Given the description of an element on the screen output the (x, y) to click on. 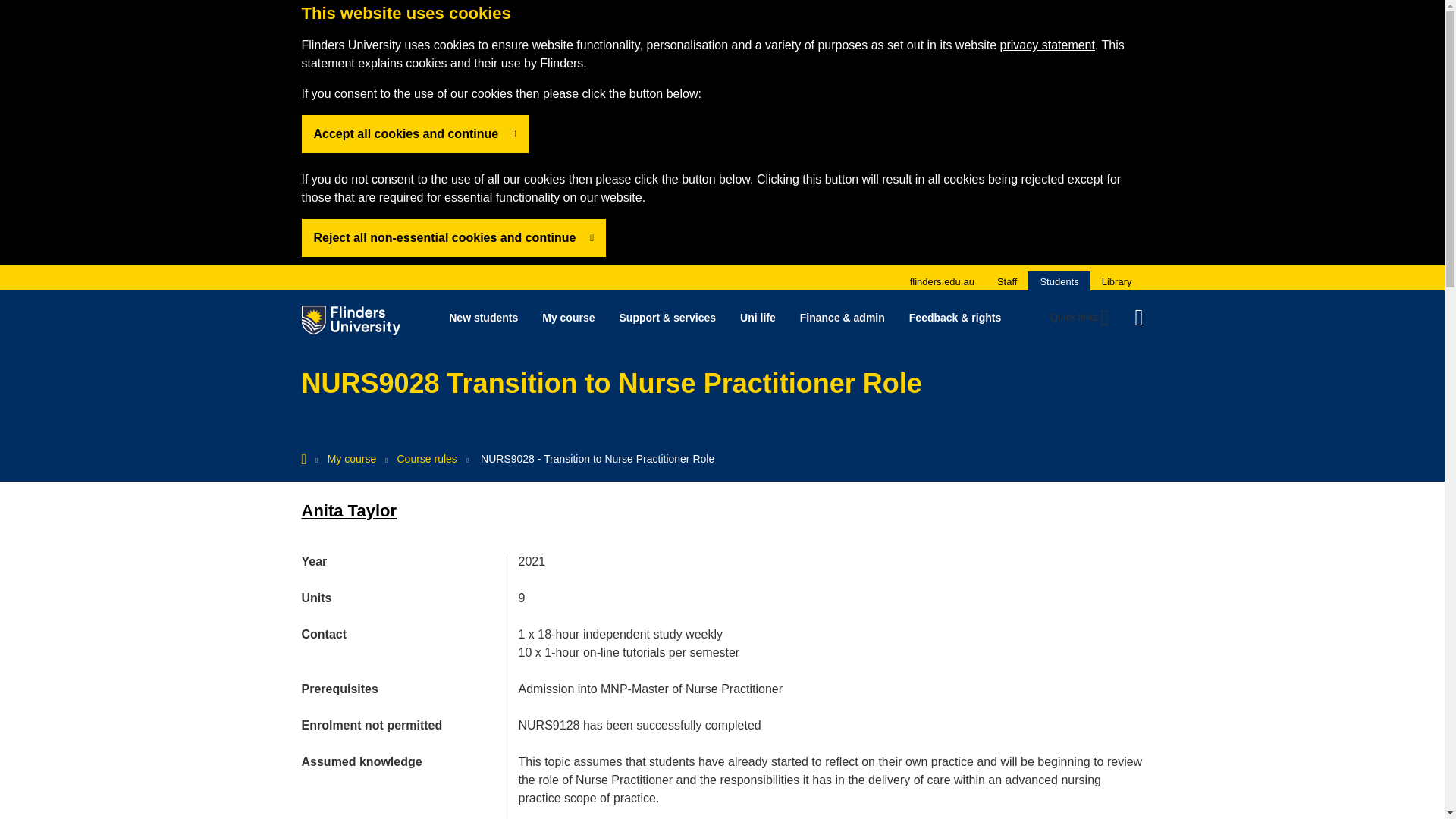
Students (1058, 281)
Library (1117, 281)
Accept and continue (454, 238)
New students (482, 317)
flinders.edu.au (942, 281)
Accept and continue (415, 134)
My course (568, 317)
Staff (1007, 281)
